Given the description of an element on the screen output the (x, y) to click on. 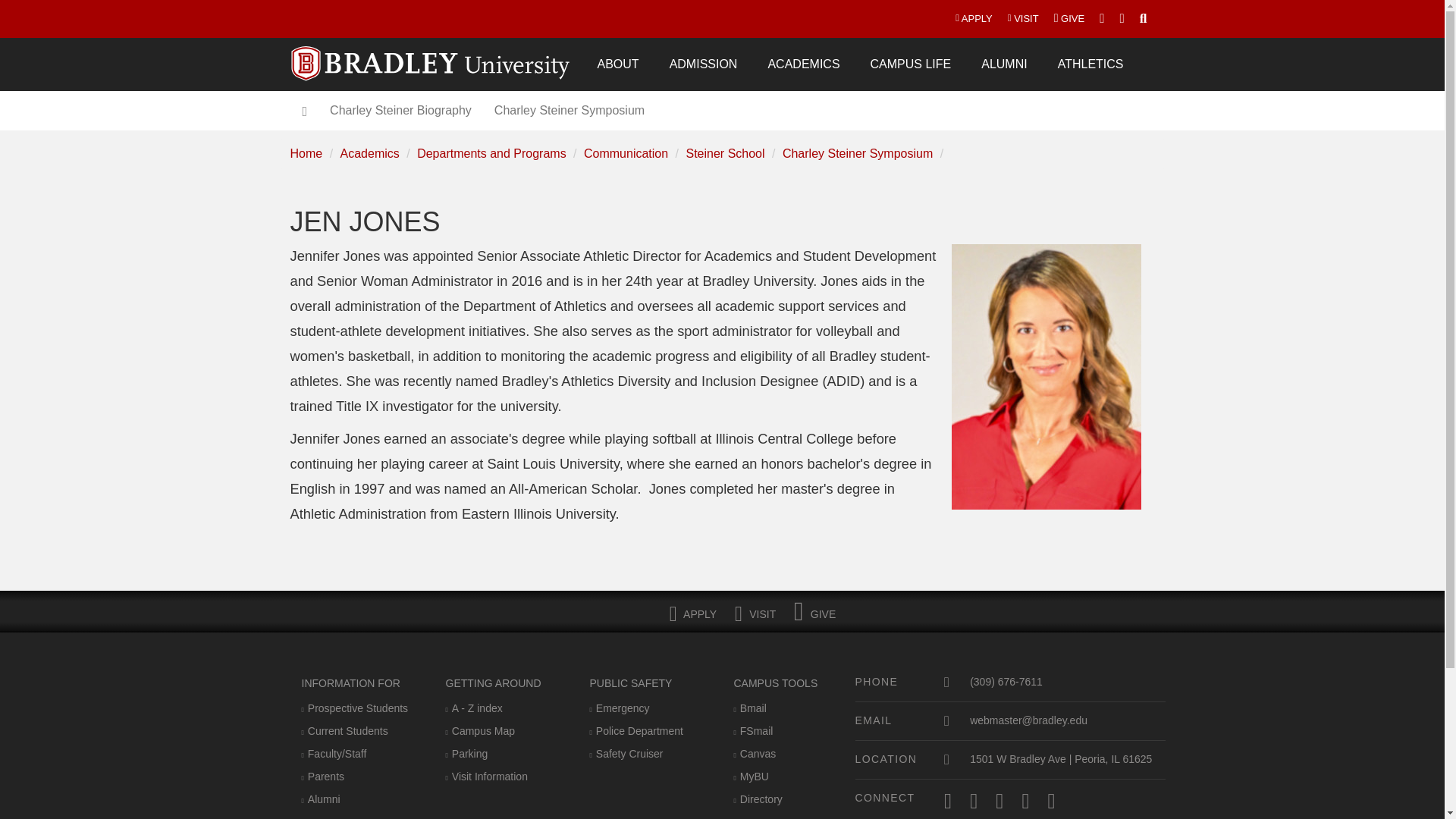
APPLY (973, 18)
Bradley University (430, 53)
VISIT (1023, 18)
GIVE (1069, 18)
Bradley University (430, 53)
